Given the description of an element on the screen output the (x, y) to click on. 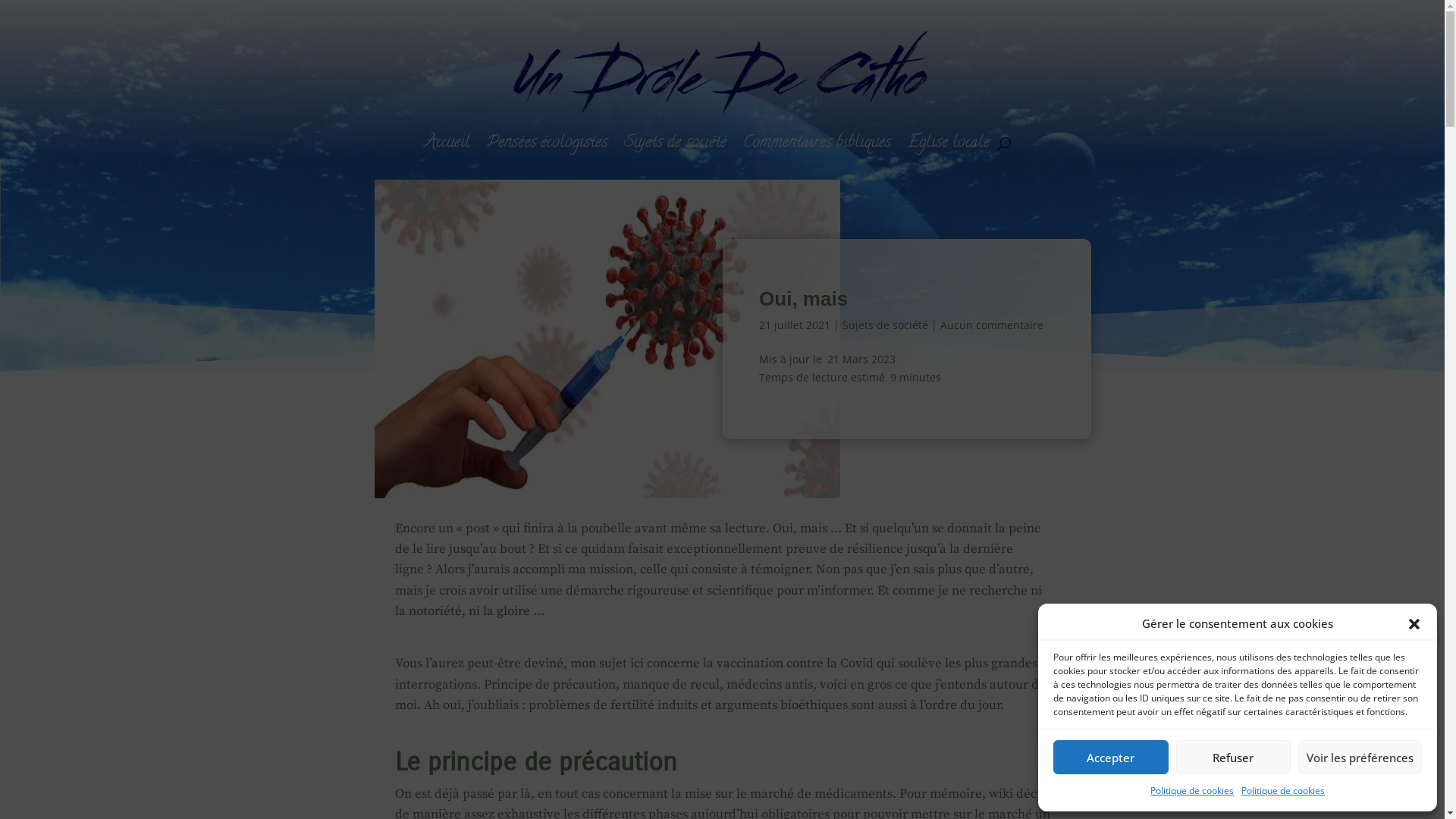
Politique de cookies Element type: text (1191, 790)
Commentaires bibliques Element type: text (817, 143)
Eglise locale Element type: text (948, 143)
vaccinscorona1 Element type: hover (607, 338)
Aucun commentaire Element type: text (991, 324)
Politique de cookies Element type: text (1282, 790)
Refuser Element type: text (1232, 757)
Accepter Element type: text (1110, 757)
Accueil Element type: text (447, 143)
